Given the description of an element on the screen output the (x, y) to click on. 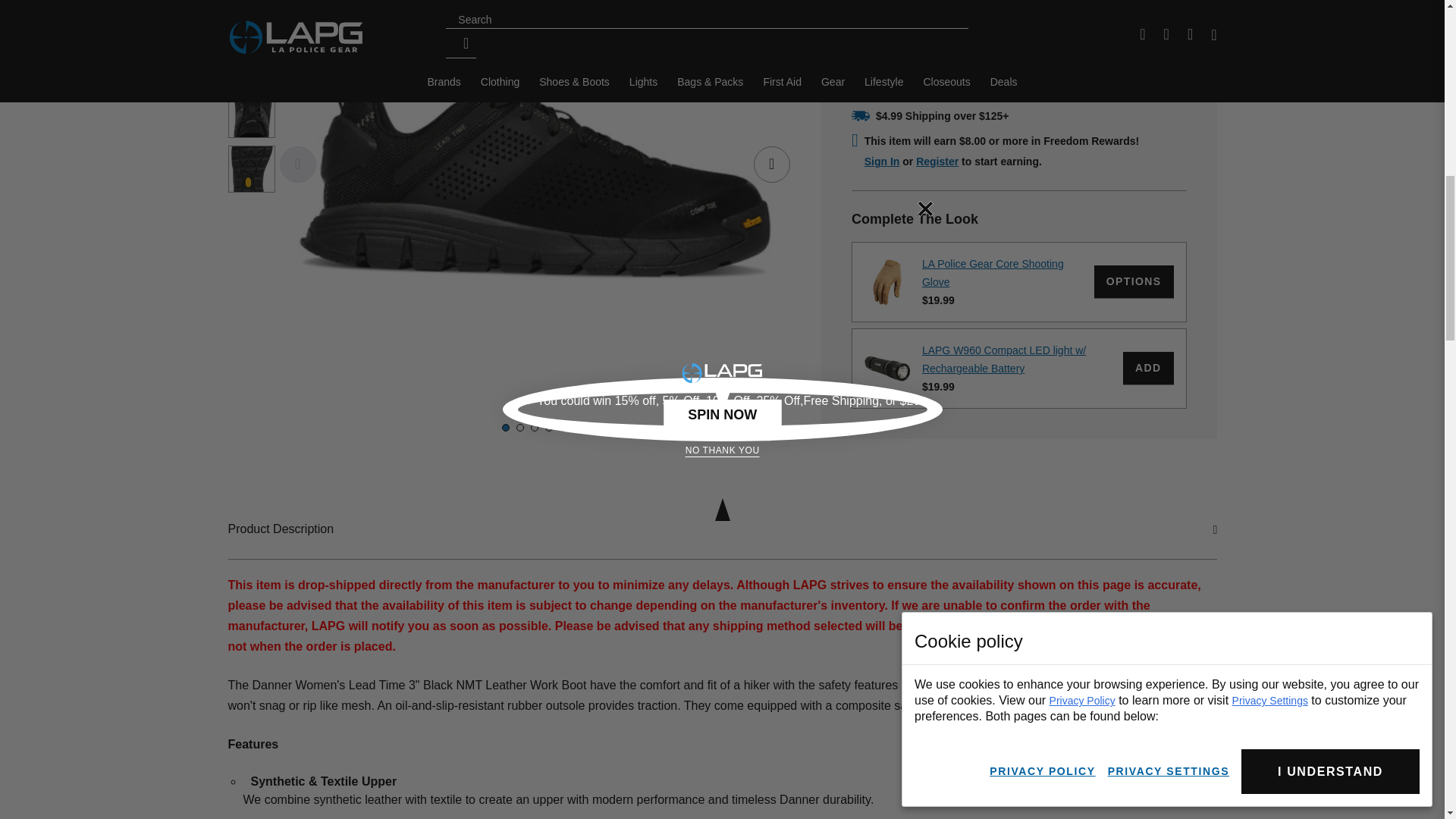
Add (1147, 368)
Add to Cart  (1018, 7)
Options (1133, 281)
